Given the description of an element on the screen output the (x, y) to click on. 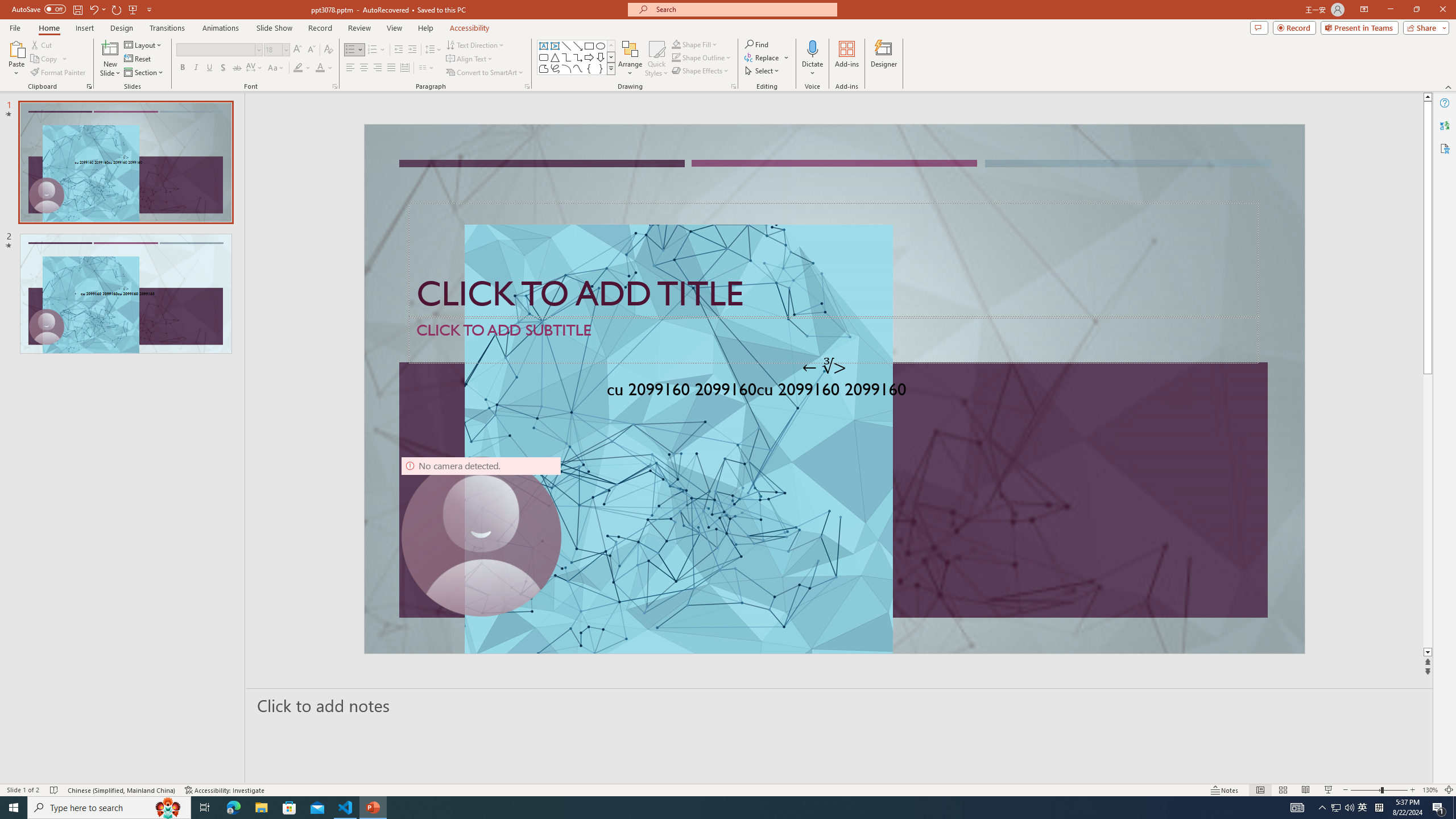
An abstract genetic concept (834, 388)
